Given the description of an element on the screen output the (x, y) to click on. 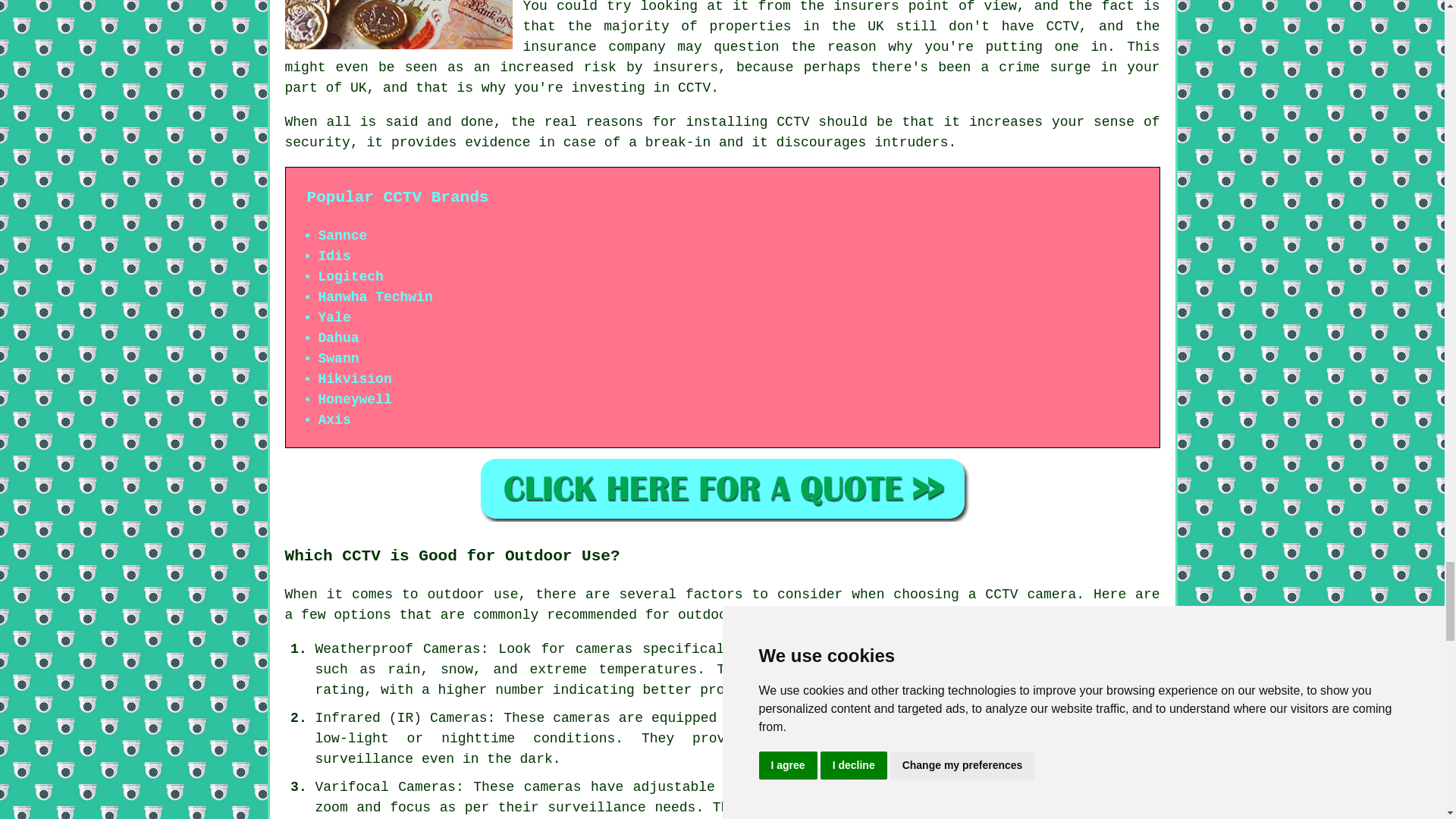
CCTV Insurance Costs UK (398, 24)
